Given the description of an element on the screen output the (x, y) to click on. 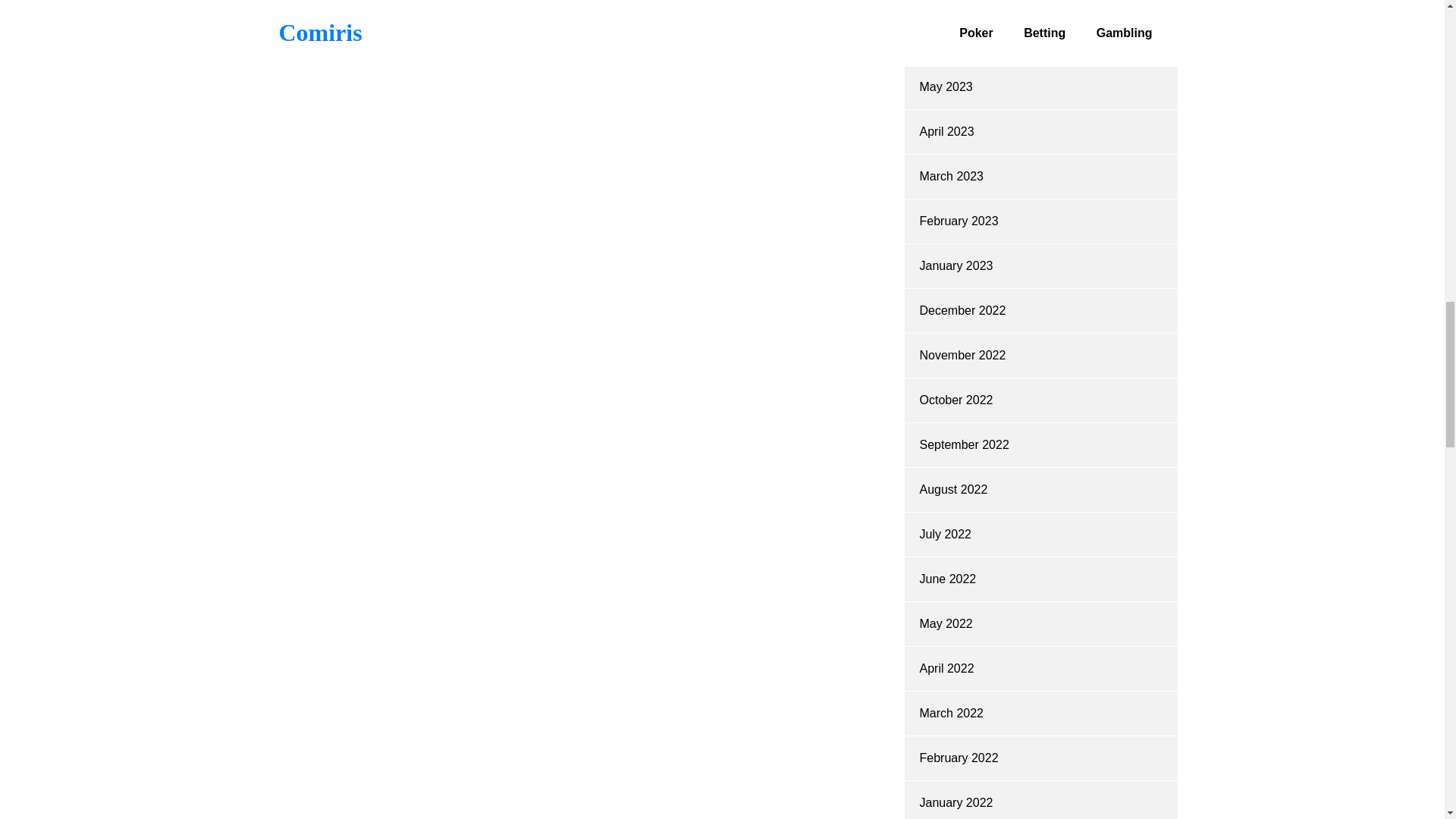
July 2023 (944, 2)
September 2022 (963, 444)
December 2022 (962, 309)
February 2023 (957, 220)
October 2022 (955, 399)
April 2023 (946, 131)
March 2023 (951, 175)
January 2023 (955, 265)
May 2023 (945, 86)
June 2023 (946, 42)
